Given the description of an element on the screen output the (x, y) to click on. 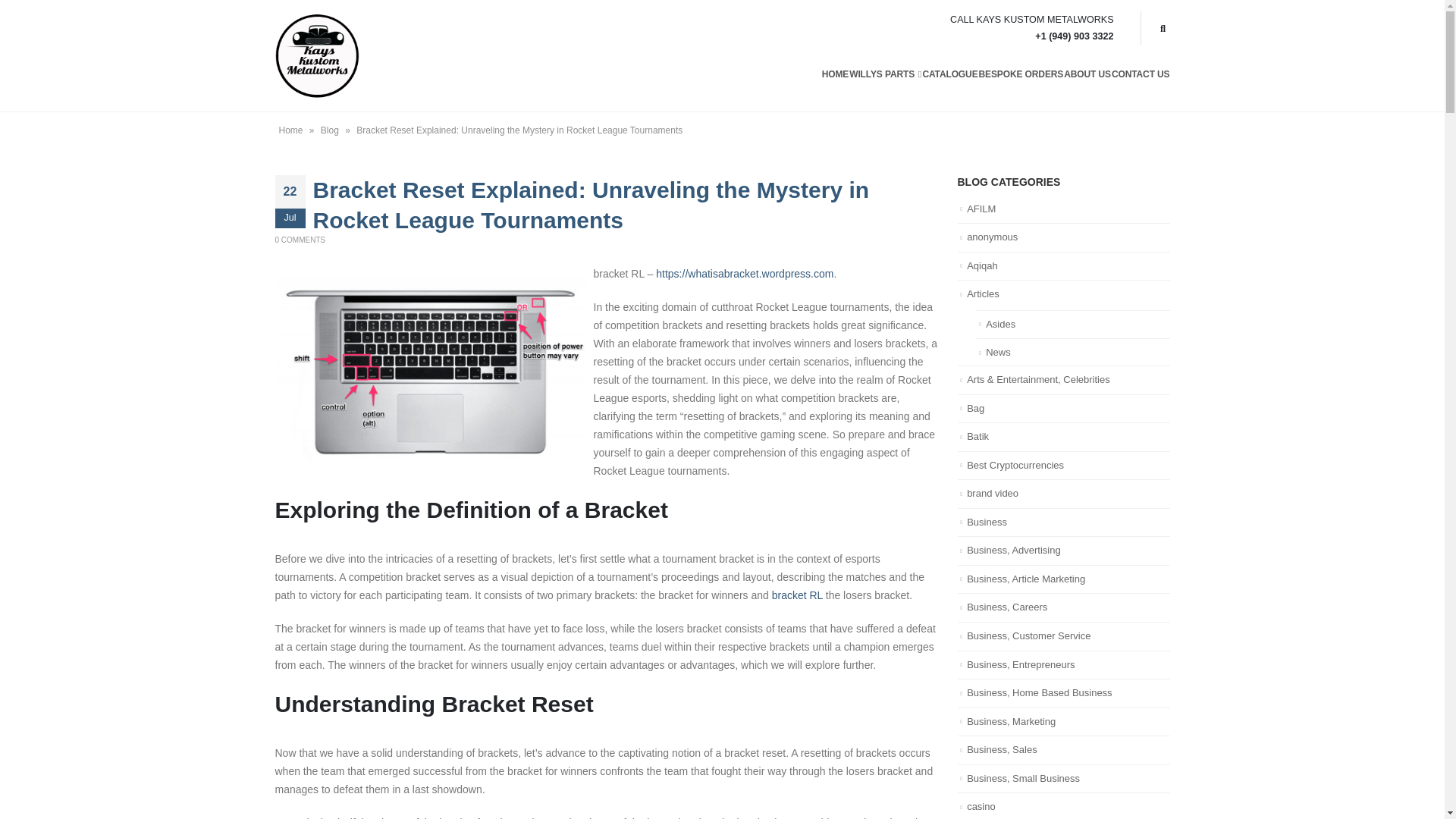
CATALOGUE (948, 74)
0 COMMENTS (299, 239)
Blog (329, 130)
CONTACT US (1141, 74)
Home (290, 130)
bracket RL (796, 594)
WILLYS PARTS (884, 74)
BESPOKE ORDERS (1021, 74)
0 COMMENTS (299, 239)
ABOUT US (1087, 74)
